Given the description of an element on the screen output the (x, y) to click on. 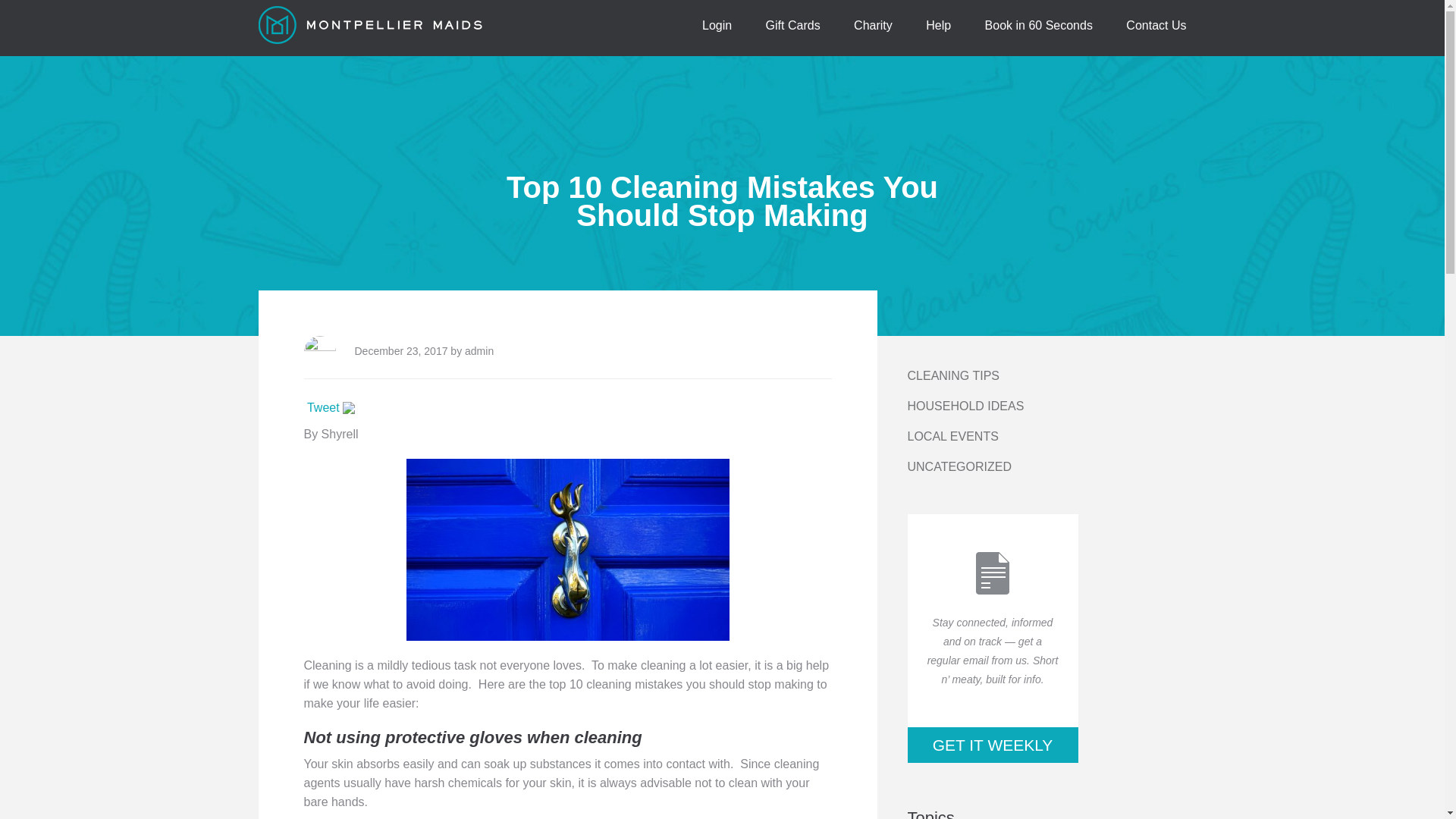
Charity (872, 24)
Contact Us (1155, 24)
CLEANING TIPS (952, 375)
LOCAL EVENTS (952, 436)
Help (938, 24)
HOUSEHOLD IDEAS (965, 405)
Gift Cards (793, 24)
Tweet (323, 407)
GET IT WEEKLY (992, 744)
Book in 60 Seconds (1039, 24)
